Given the description of an element on the screen output the (x, y) to click on. 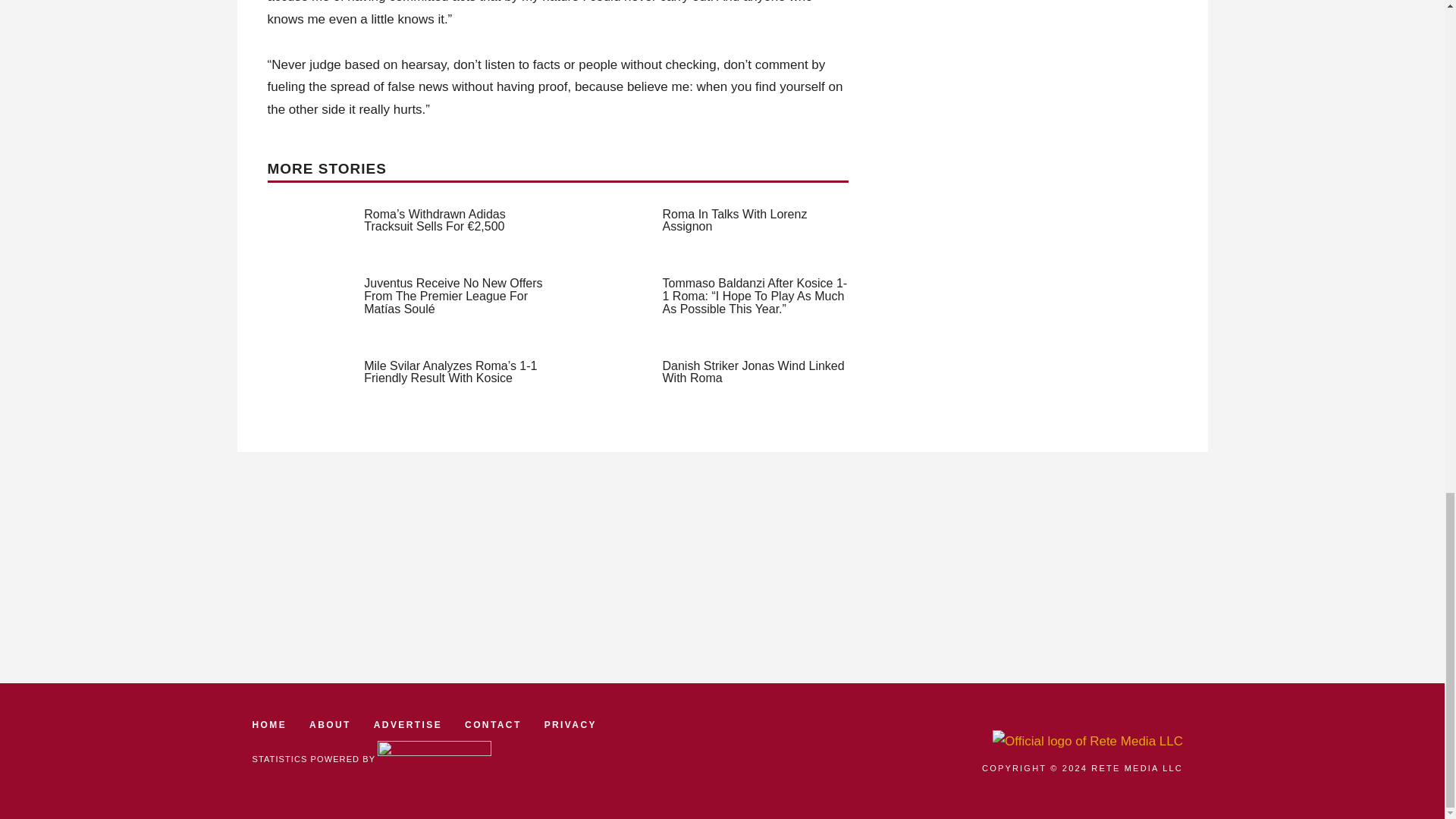
HOME (268, 725)
ABOUT (329, 725)
ADVERTISE (408, 725)
Danish Striker Jonas Wind Linked With Roma (753, 371)
PRIVACY (570, 725)
Roma In Talks With Lorenz Assignon (735, 220)
CONTACT (492, 725)
